Given the description of an element on the screen output the (x, y) to click on. 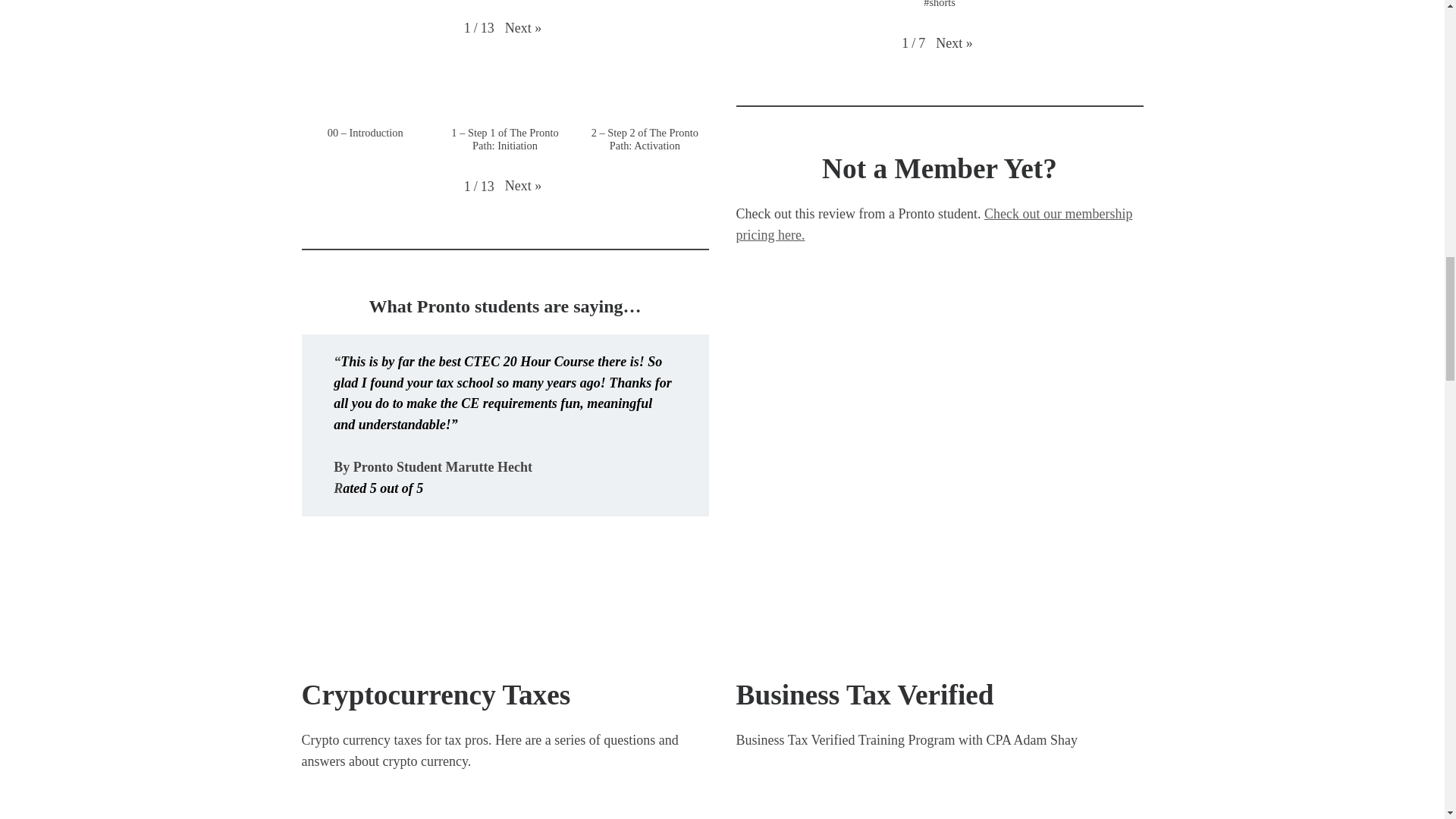
Pricing (933, 224)
YouTube player (505, 801)
YouTube player (938, 791)
